Given the description of an element on the screen output the (x, y) to click on. 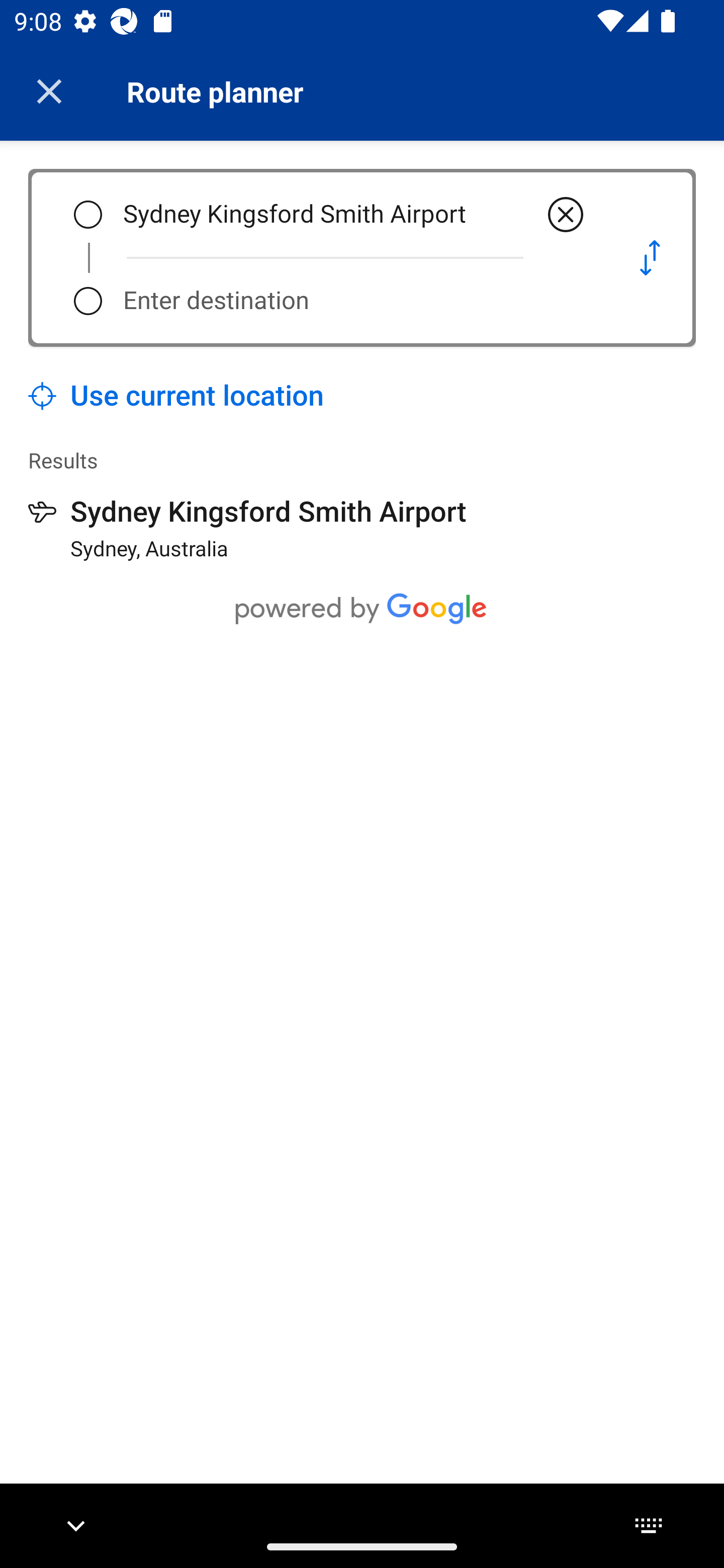
Close (49, 91)
Sydney Kingsford Smith Airport Clear (355, 214)
Clear (565, 214)
Swap pick-up location and destination (650, 257)
Enter destination (355, 300)
Use current location (176, 395)
Sydney Kingsford Smith Airport Sydney, Australia (247, 528)
